Given the description of an element on the screen output the (x, y) to click on. 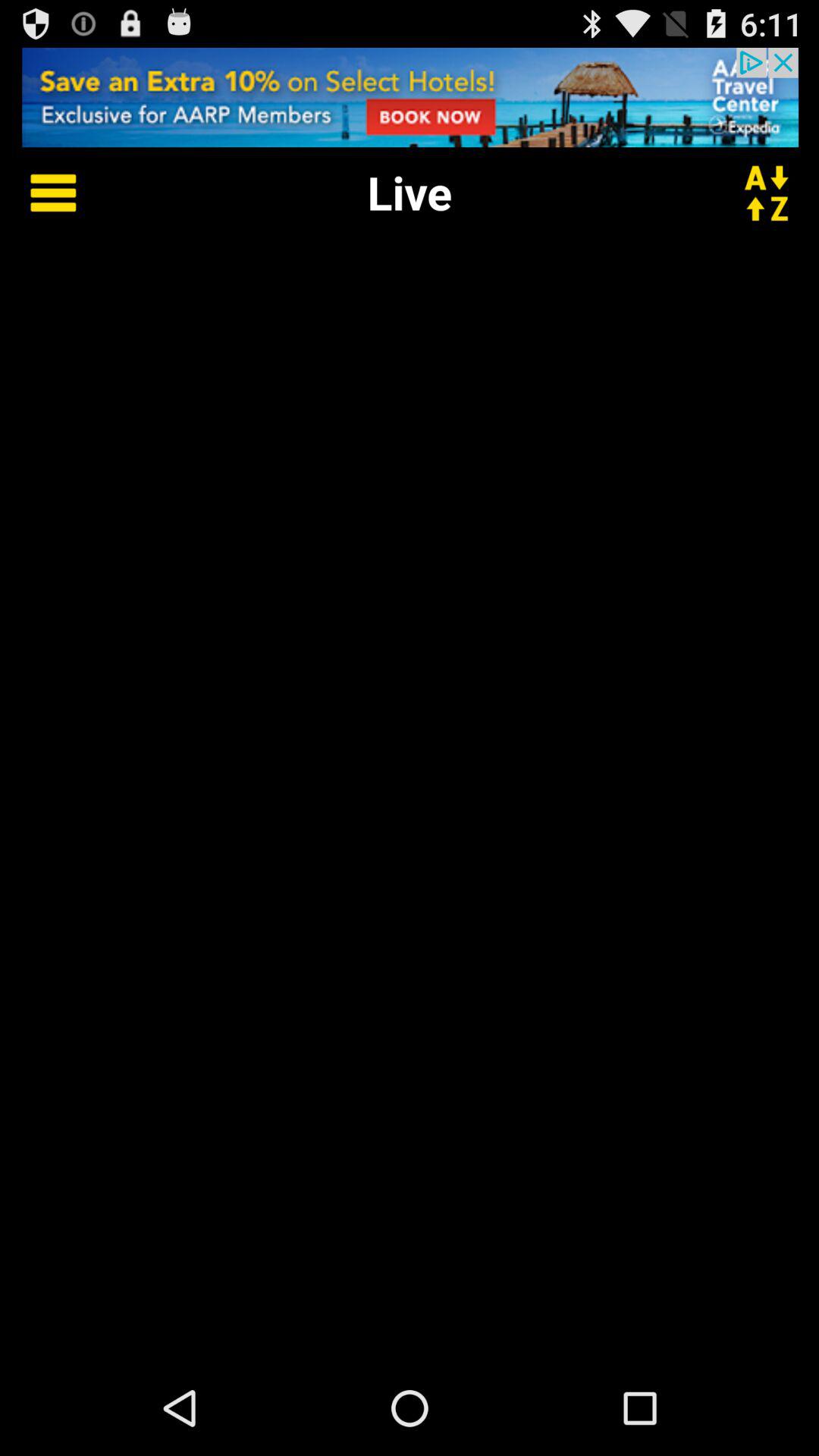
adverts (409, 97)
